Given the description of an element on the screen output the (x, y) to click on. 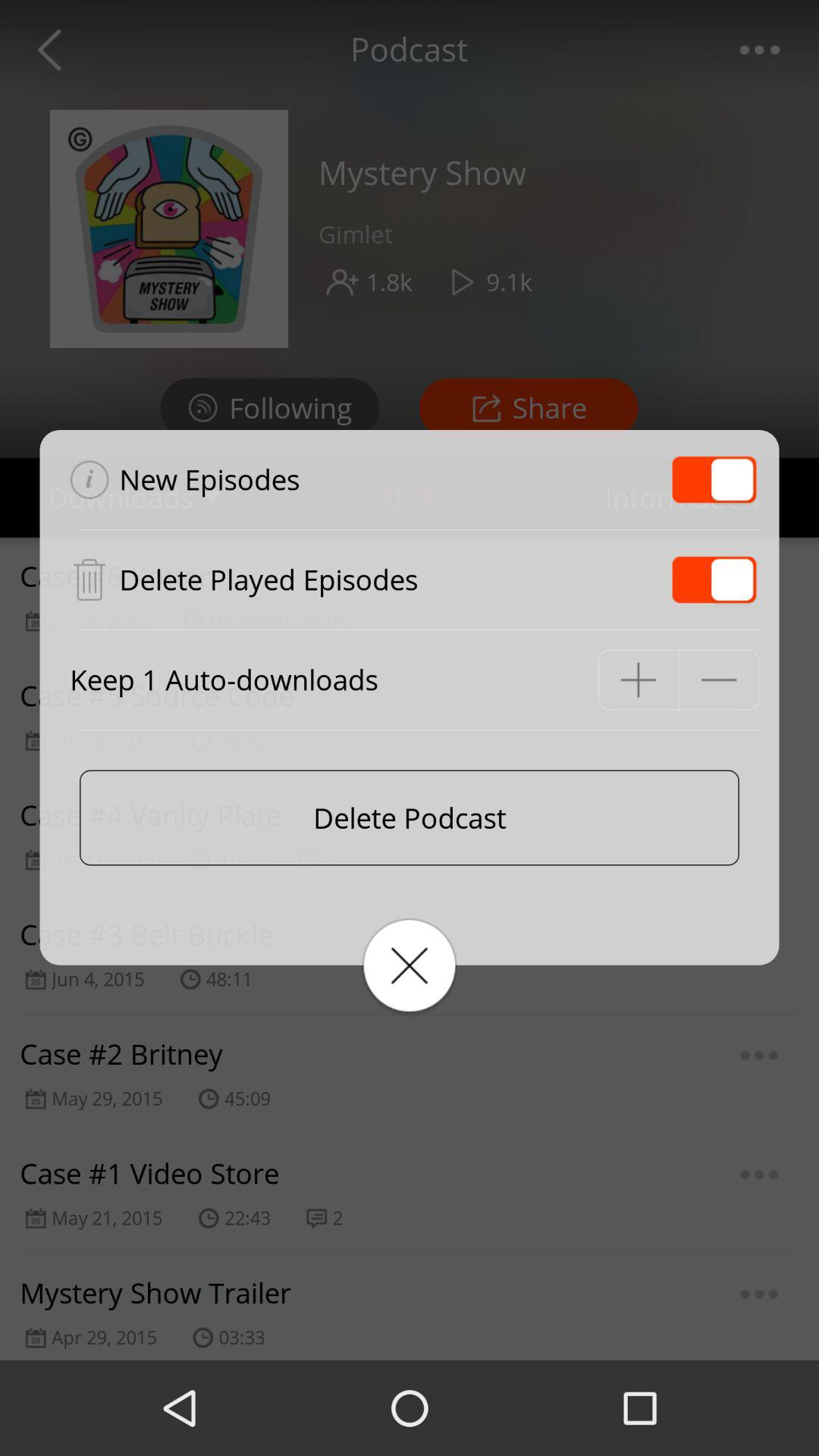
turn off new episodes (714, 479)
